Given the description of an element on the screen output the (x, y) to click on. 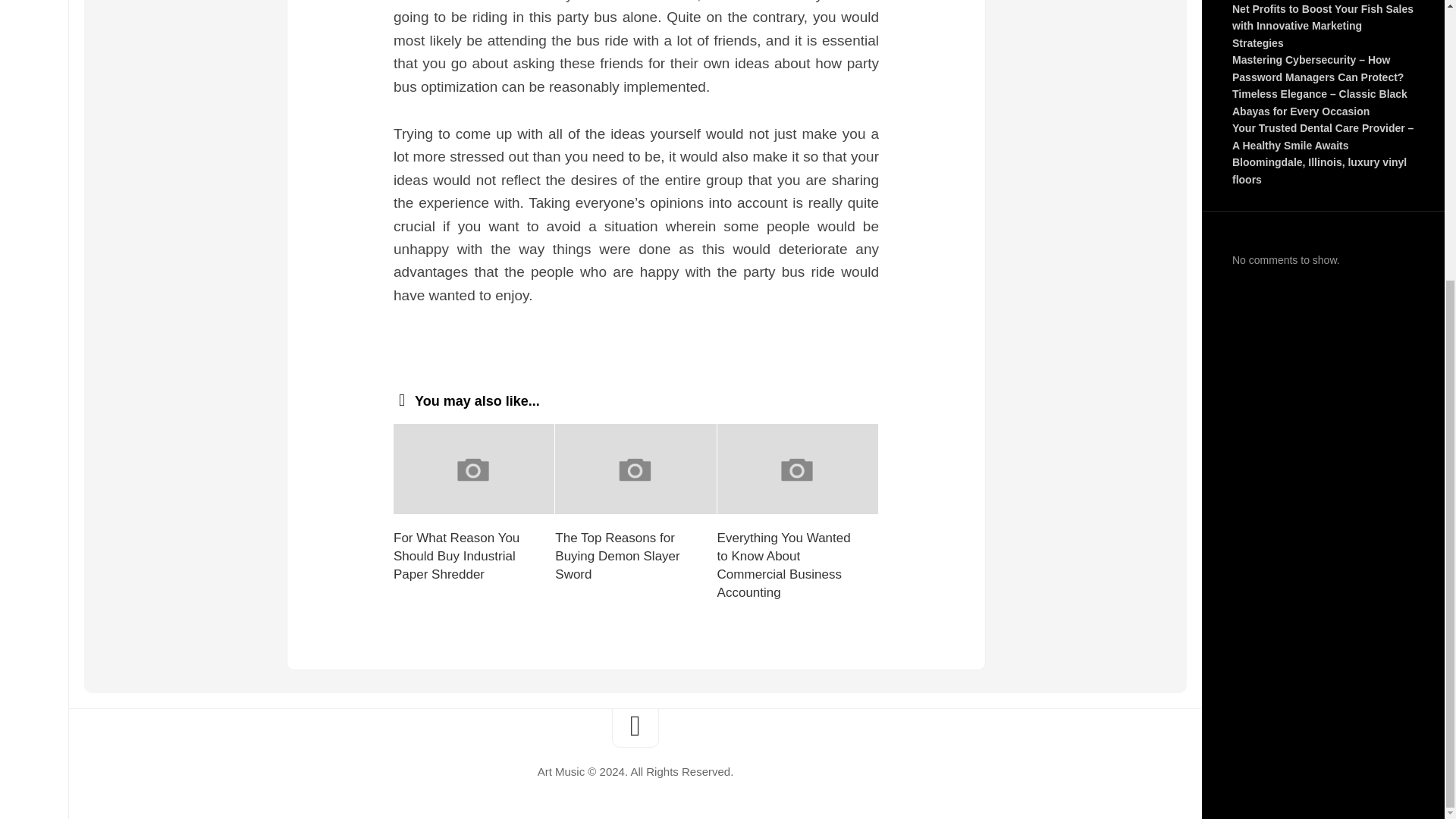
For What Reason You Should Buy Industrial Paper Shredder (456, 555)
Bloomingdale, Illinois, luxury vinyl floors (1318, 170)
The Top Reasons for Buying Demon Slayer Sword (616, 555)
